Given the description of an element on the screen output the (x, y) to click on. 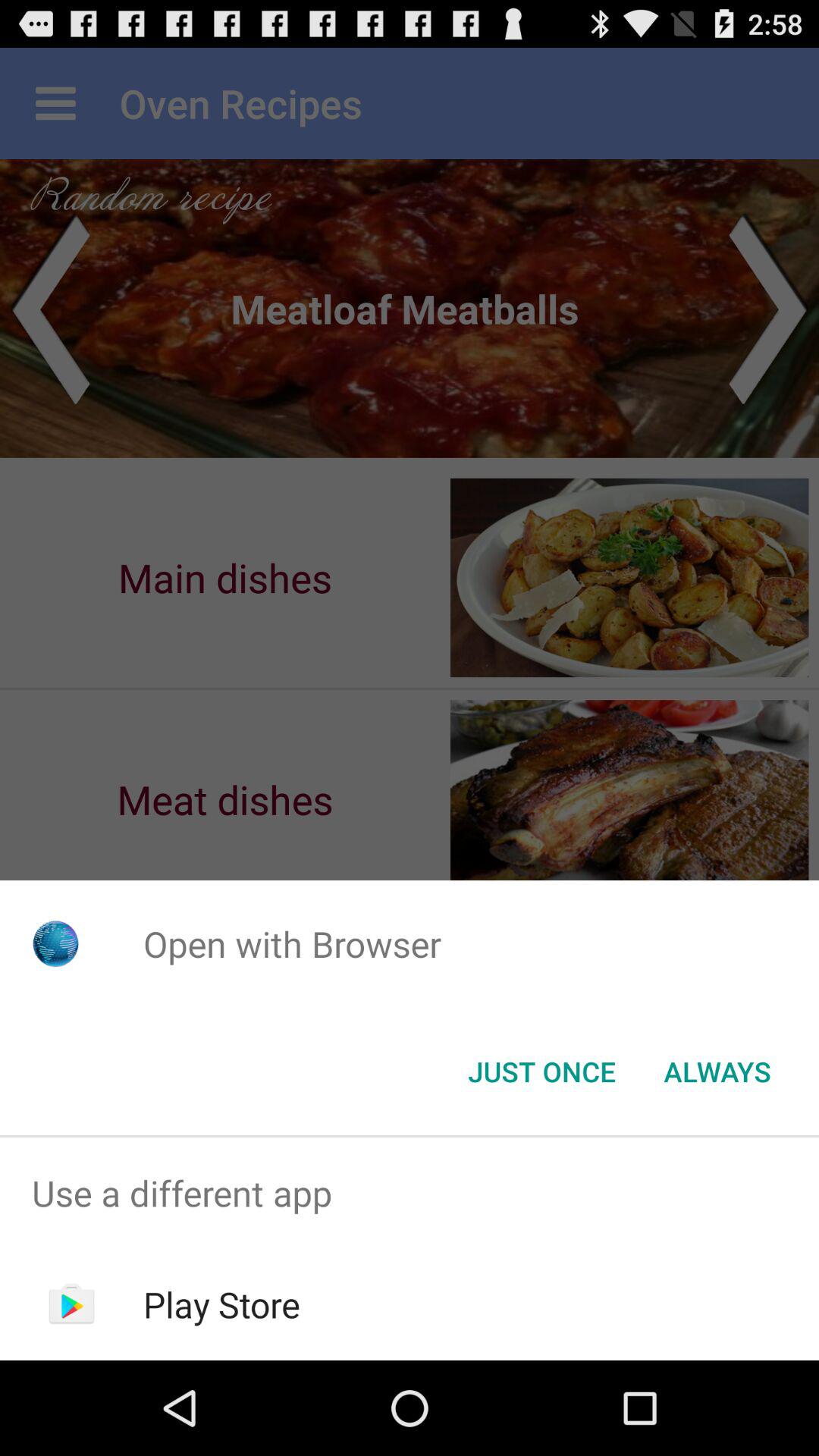
turn off the play store (221, 1304)
